Given the description of an element on the screen output the (x, y) to click on. 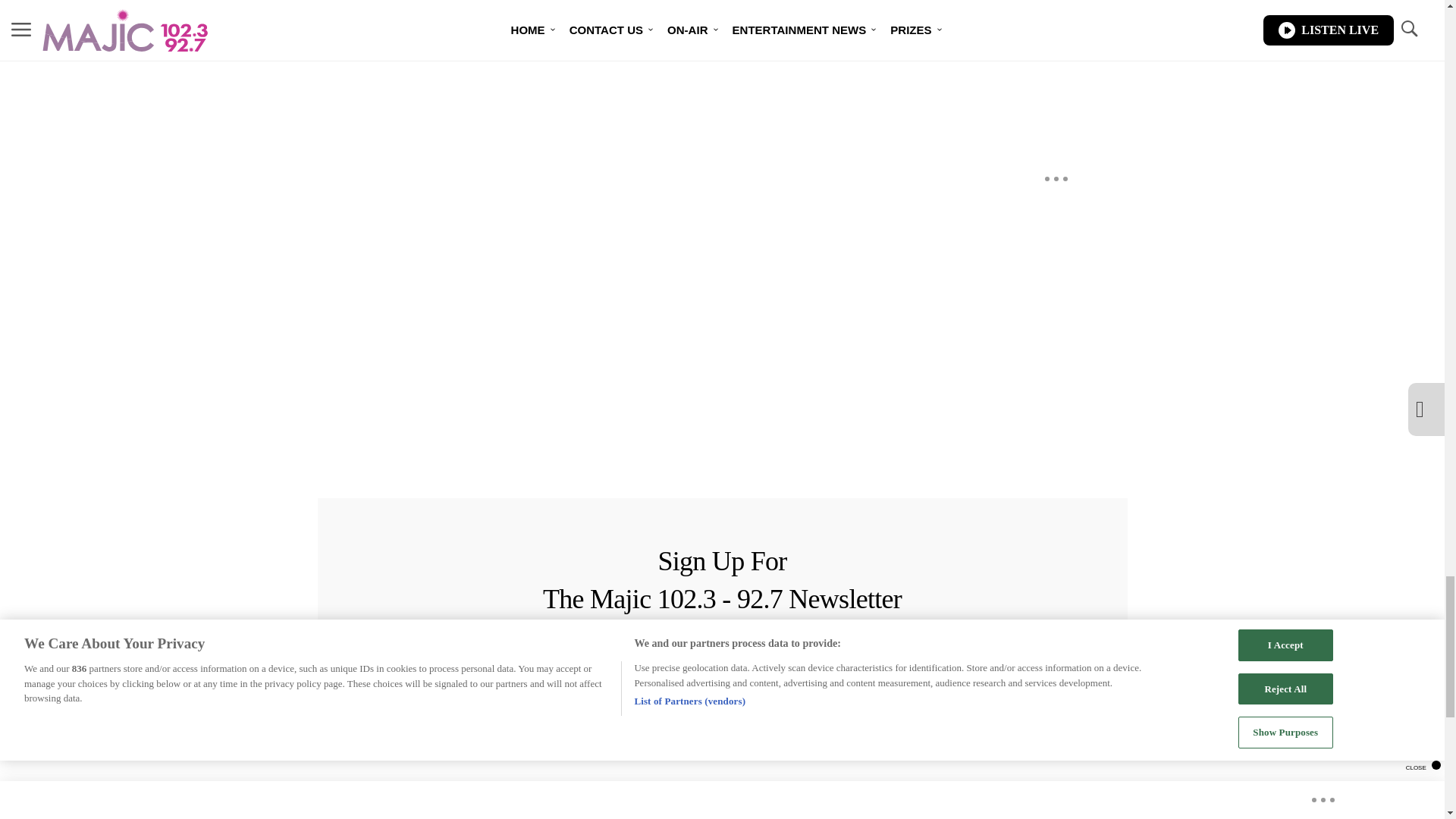
Vuukle Comments Widget (585, 87)
